Given the description of an element on the screen output the (x, y) to click on. 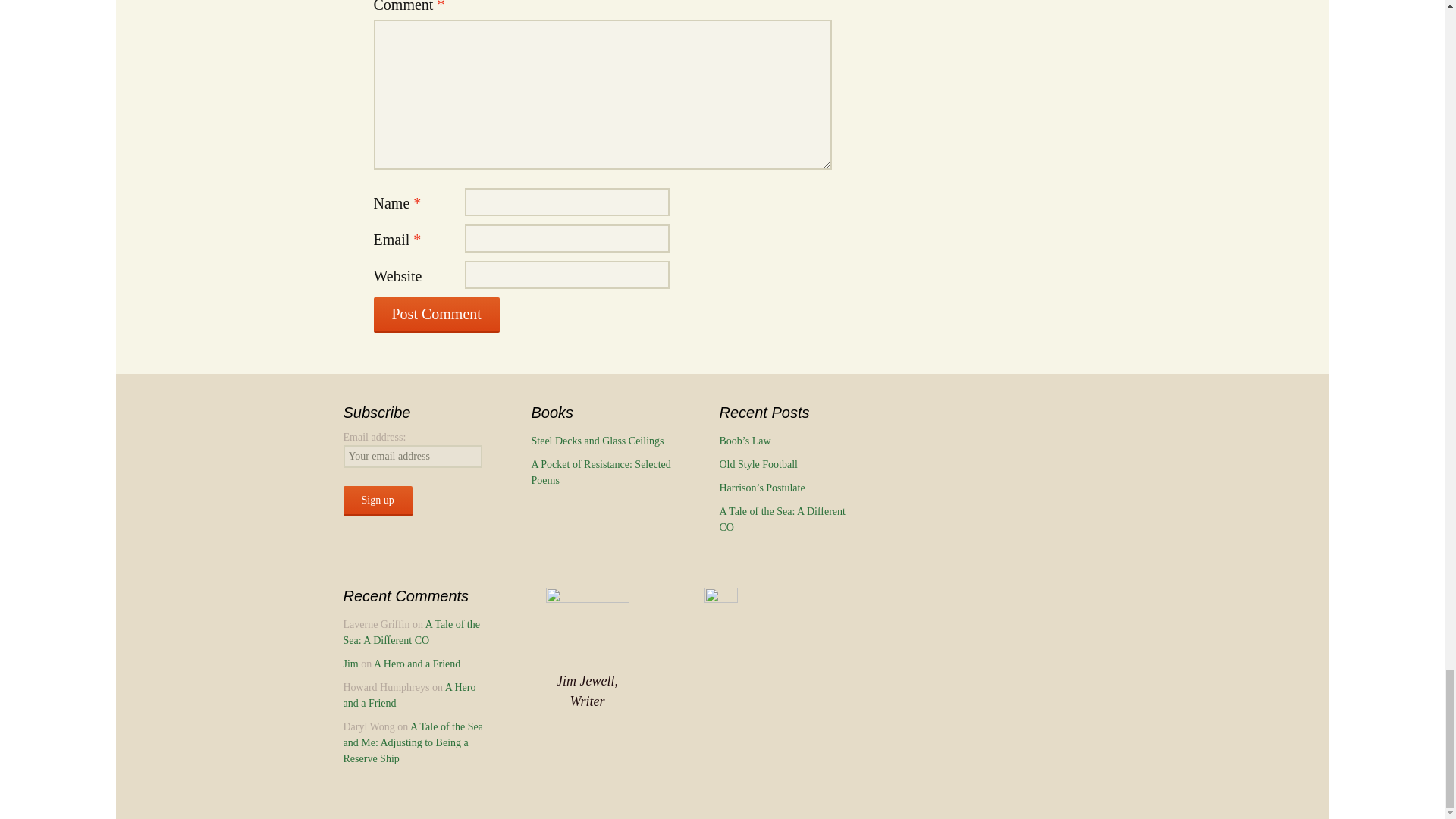
A Pocket of Resistance: Selected Poems (600, 472)
Sign up (377, 501)
Post Comment (435, 314)
Sign up (377, 501)
Steel Decks and Glass Ceilings (597, 440)
Post Comment (435, 314)
